Given the description of an element on the screen output the (x, y) to click on. 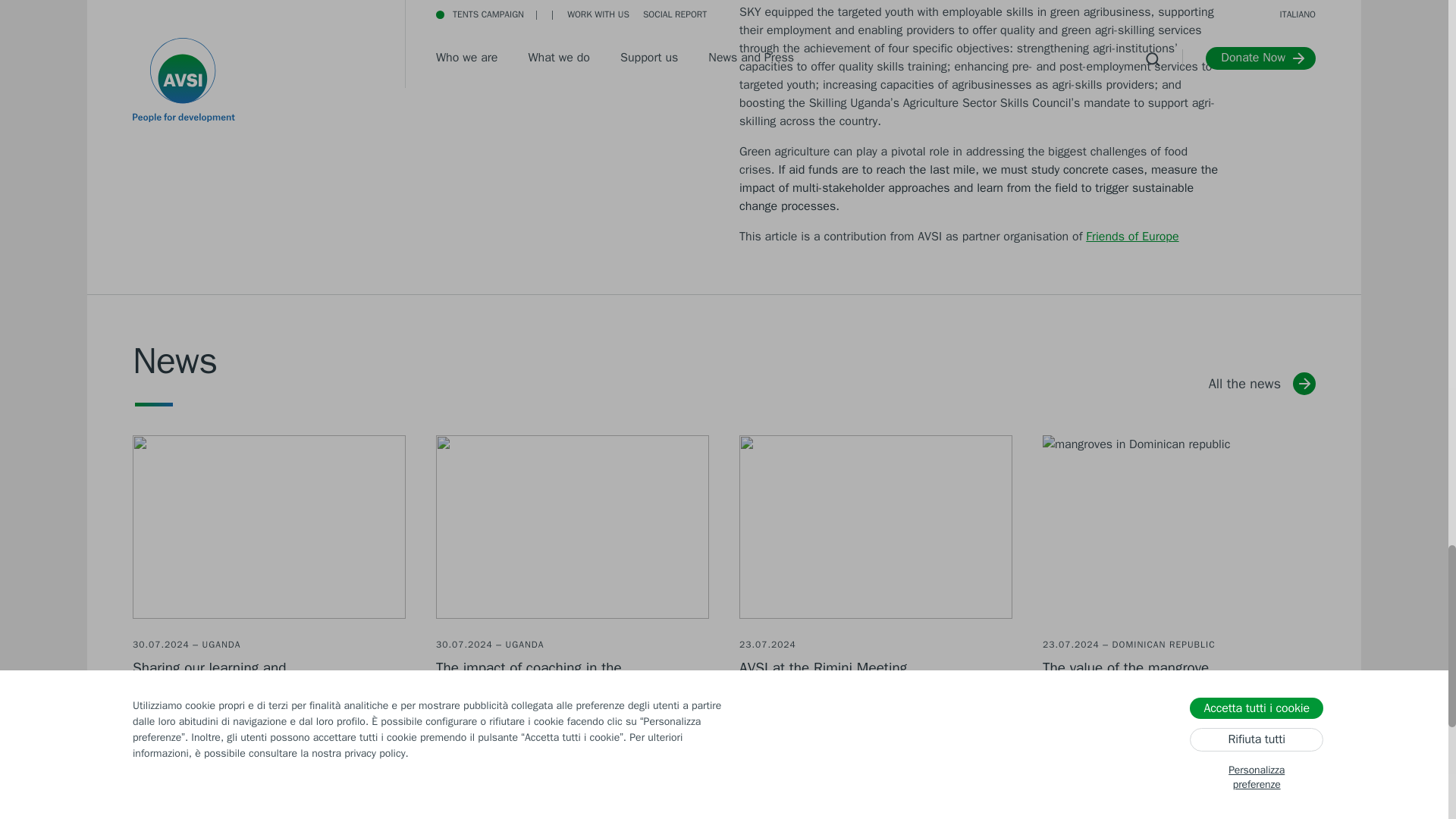
mangroves in Dominican republic (1179, 526)
WEBINAR-POSTER1sss-aspect-ratio-860-580 (269, 526)
